Given the description of an element on the screen output the (x, y) to click on. 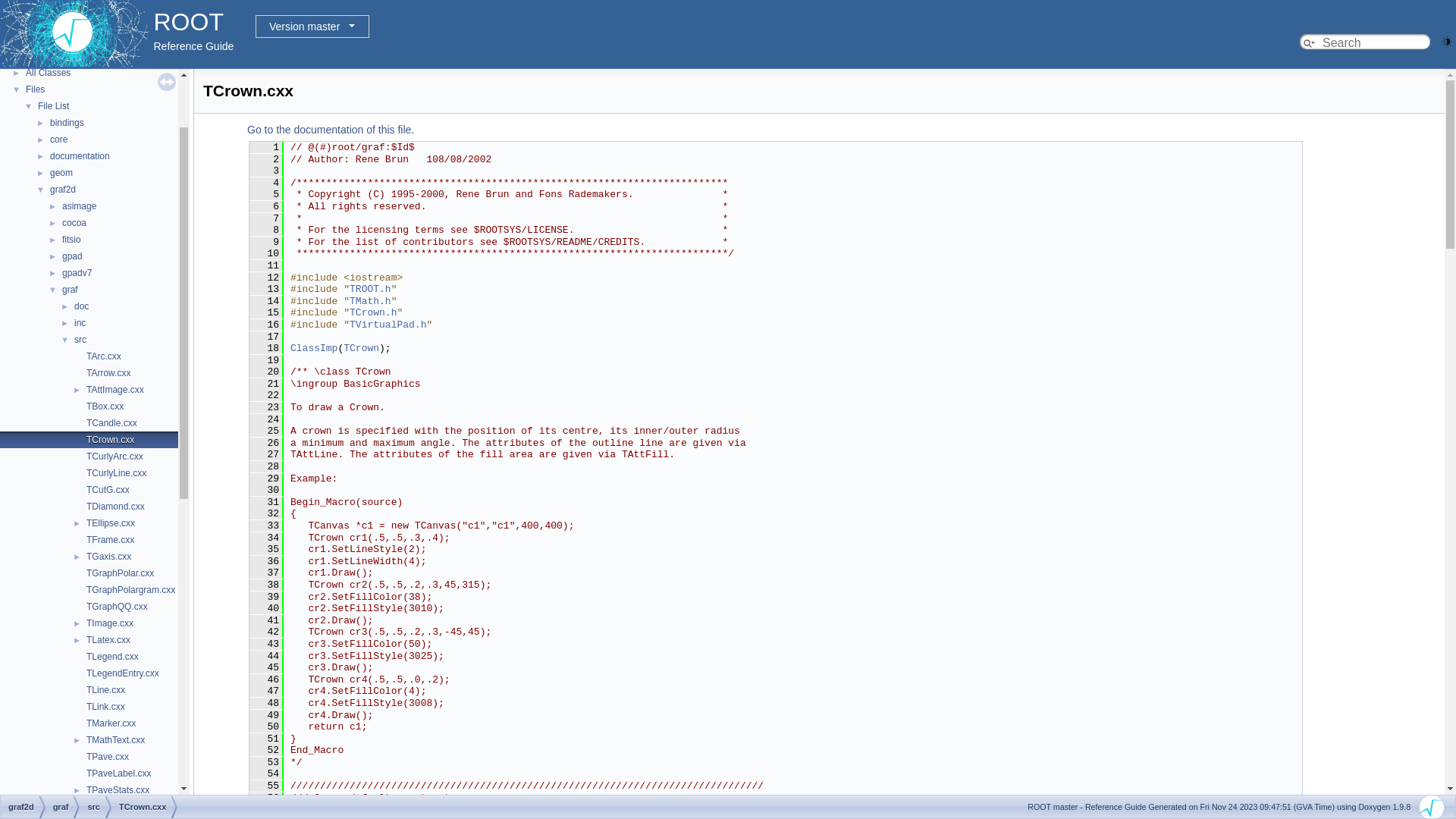
File List Element type: text (53, 105)
TCrown.cxx Element type: text (109, 439)
asimage Element type: text (78, 206)
TLegendEntry.cxx Element type: text (122, 673)
TBox.cxx Element type: text (104, 406)
TCrown Element type: text (361, 348)
TGraphQQ.cxx Element type: text (116, 606)
TROOT.h Element type: text (370, 288)
src Element type: text (79, 339)
bindings Element type: text (66, 122)
cocoa Element type: text (73, 222)
TDiamond.cxx Element type: text (115, 506)
ClassImp Element type: text (313, 348)
TFrame.cxx Element type: text (109, 539)
graf Element type: text (69, 289)
TArc.cxx Element type: text (103, 356)
All Classes Element type: text (48, 72)
TGraphPolargram.cxx Element type: text (130, 589)
TPaveLabel.cxx Element type: text (118, 773)
click to disable panel synchronisation Element type: hover (166, 81)
Files Element type: text (35, 89)
Tutorials Element type: text (43, 22)
TLegend.cxx Element type: text (112, 656)
core Element type: text (58, 139)
TEllipse.cxx Element type: text (110, 523)
fitsio Element type: text (71, 239)
TLatex.cxx Element type: text (107, 639)
Namespaces Element type: text (52, 55)
gpad Element type: text (72, 256)
TLink.cxx Element type: text (105, 706)
documentation Element type: text (79, 156)
Functional Parts Element type: text (58, 39)
TPavesText.cxx Element type: text (117, 806)
TGaxis.cxx Element type: text (108, 556)
TCandle.cxx Element type: text (111, 422)
TMathText.cxx Element type: text (115, 739)
Go to the documentation of this file. Element type: text (330, 129)
TVirtualPad.h Element type: text (387, 324)
graf2d Element type: text (62, 189)
TGraphPolar.cxx Element type: text (119, 573)
TPave.cxx Element type: text (107, 756)
TCurlyLine.cxx Element type: text (115, 473)
TMath.h Element type: text (370, 301)
TCrown.h Element type: text (372, 312)
TMarker.cxx Element type: text (110, 723)
inc Element type: text (79, 322)
Version master Element type: text (312, 26)
Toggle Light/Dark Mode Element type: hover (1446, 40)
TAttImage.cxx Element type: text (114, 389)
TCurlyArc.cxx Element type: text (114, 456)
TPaveStats.cxx Element type: text (117, 790)
TImage.cxx Element type: text (109, 623)
gpadv7 Element type: text (76, 272)
TCutG.cxx Element type: text (107, 489)
TArrow.cxx Element type: text (107, 372)
geom Element type: text (61, 172)
doc Element type: text (81, 306)
TLine.cxx Element type: text (105, 689)
